Given the description of an element on the screen output the (x, y) to click on. 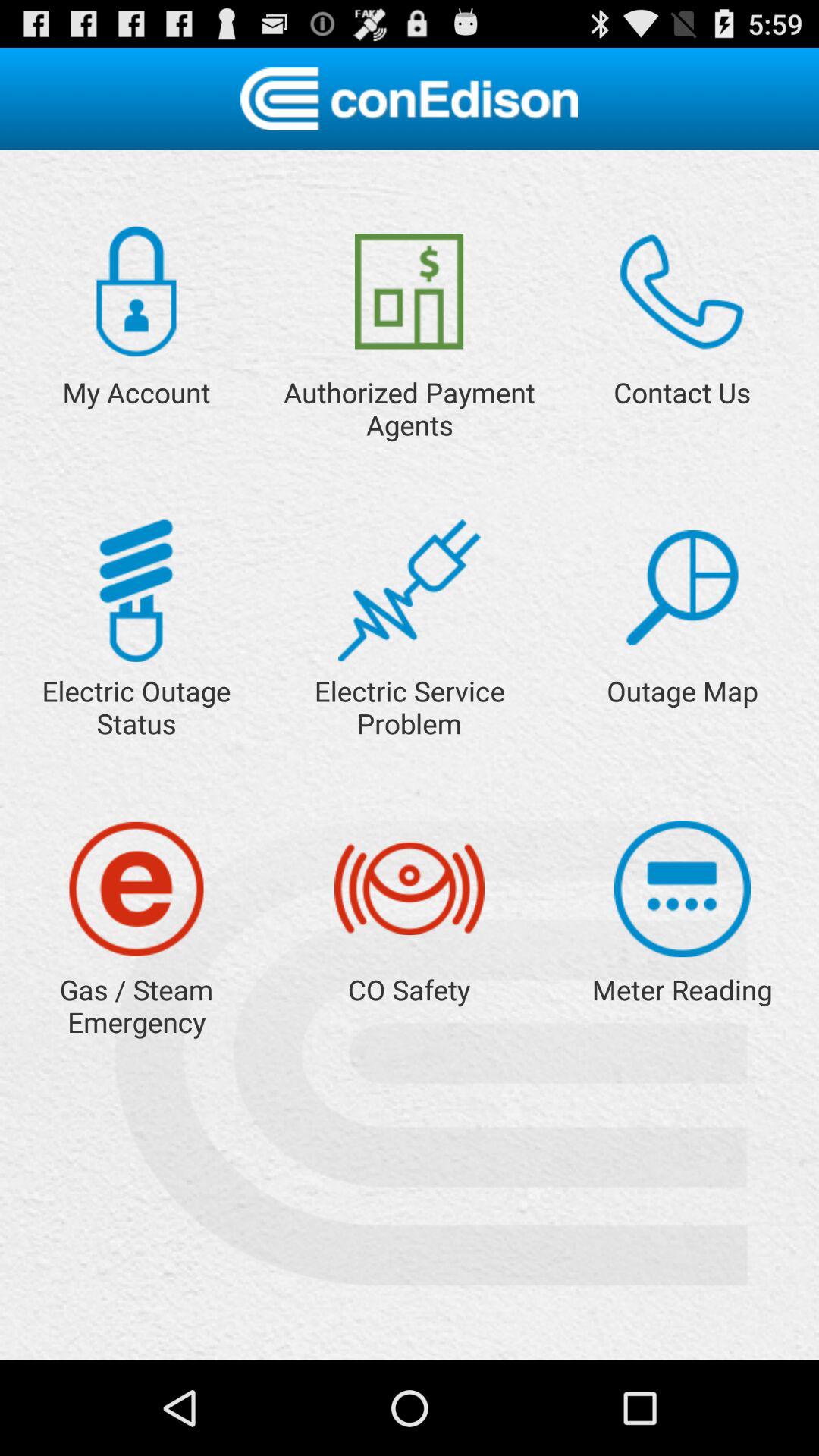
gas/ steam emergency (136, 888)
